Given the description of an element on the screen output the (x, y) to click on. 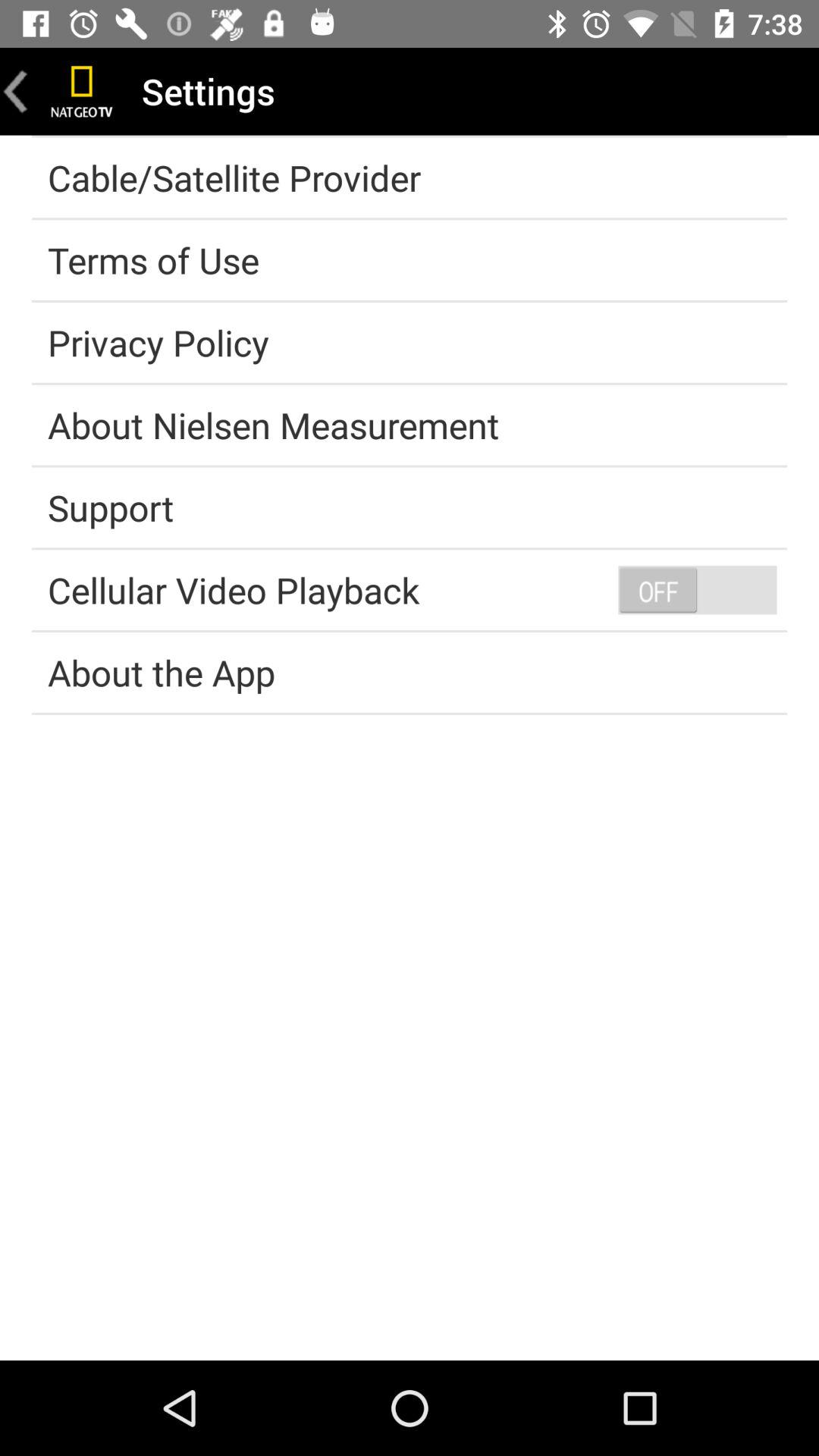
active/deactive cellular video playback option (696, 589)
